Given the description of an element on the screen output the (x, y) to click on. 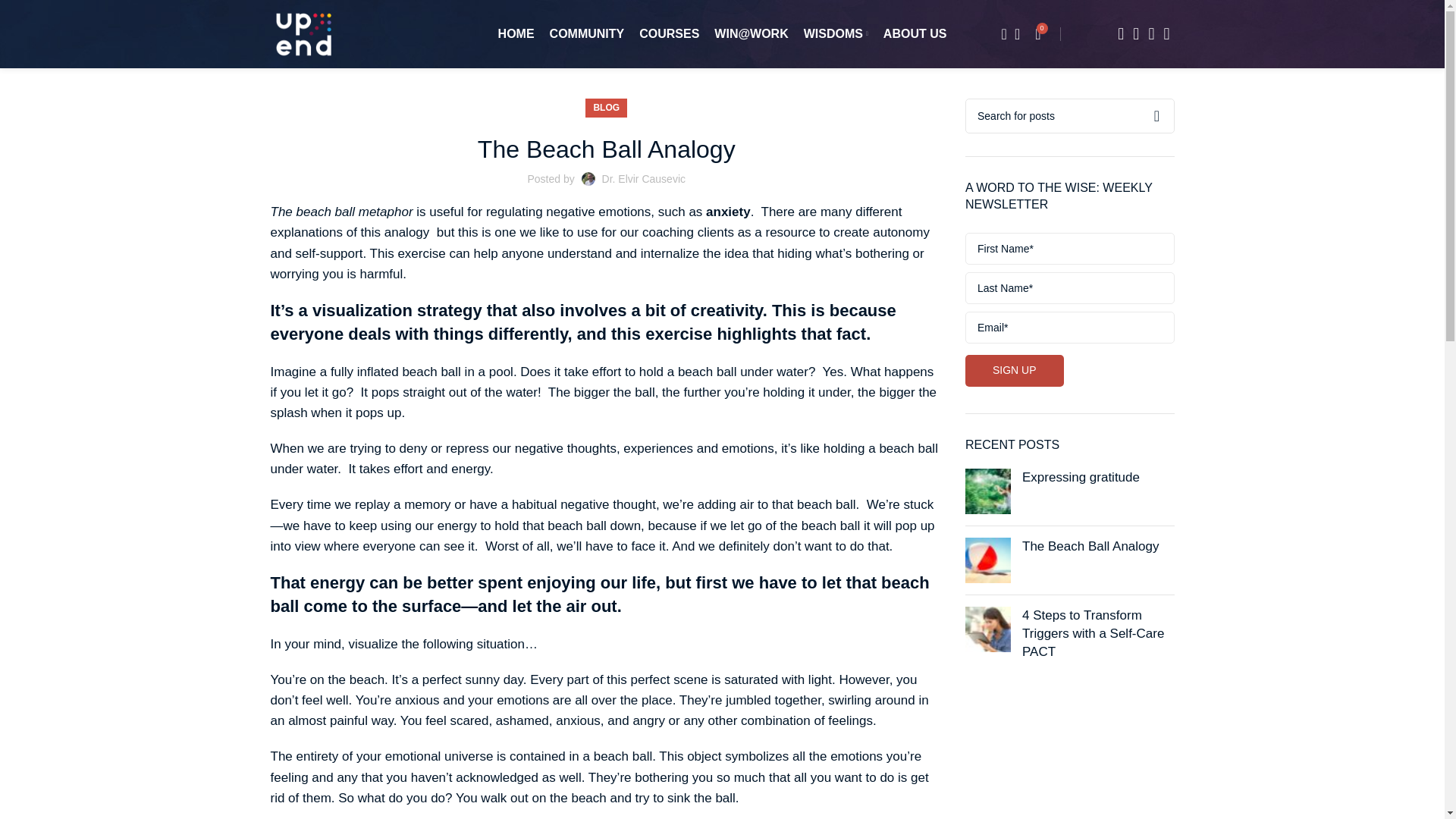
Sign Up (1014, 370)
Sign Up (1014, 370)
BLOG (606, 107)
SEARCH (1155, 115)
Permalink to The Beach Ball Analogy (1090, 545)
COURSES (668, 33)
4 Steps to Transform Triggers with a Self-Care PACT (987, 628)
Search for posts (1069, 115)
The Beach Ball Analogy (987, 560)
HOME (515, 33)
Permalink to Expressing gratitude (1081, 477)
ABOUT US (915, 33)
WISDOMS (835, 33)
4 Steps to Transform Triggers with a Self-Care PACT (1092, 633)
